Given the description of an element on the screen output the (x, y) to click on. 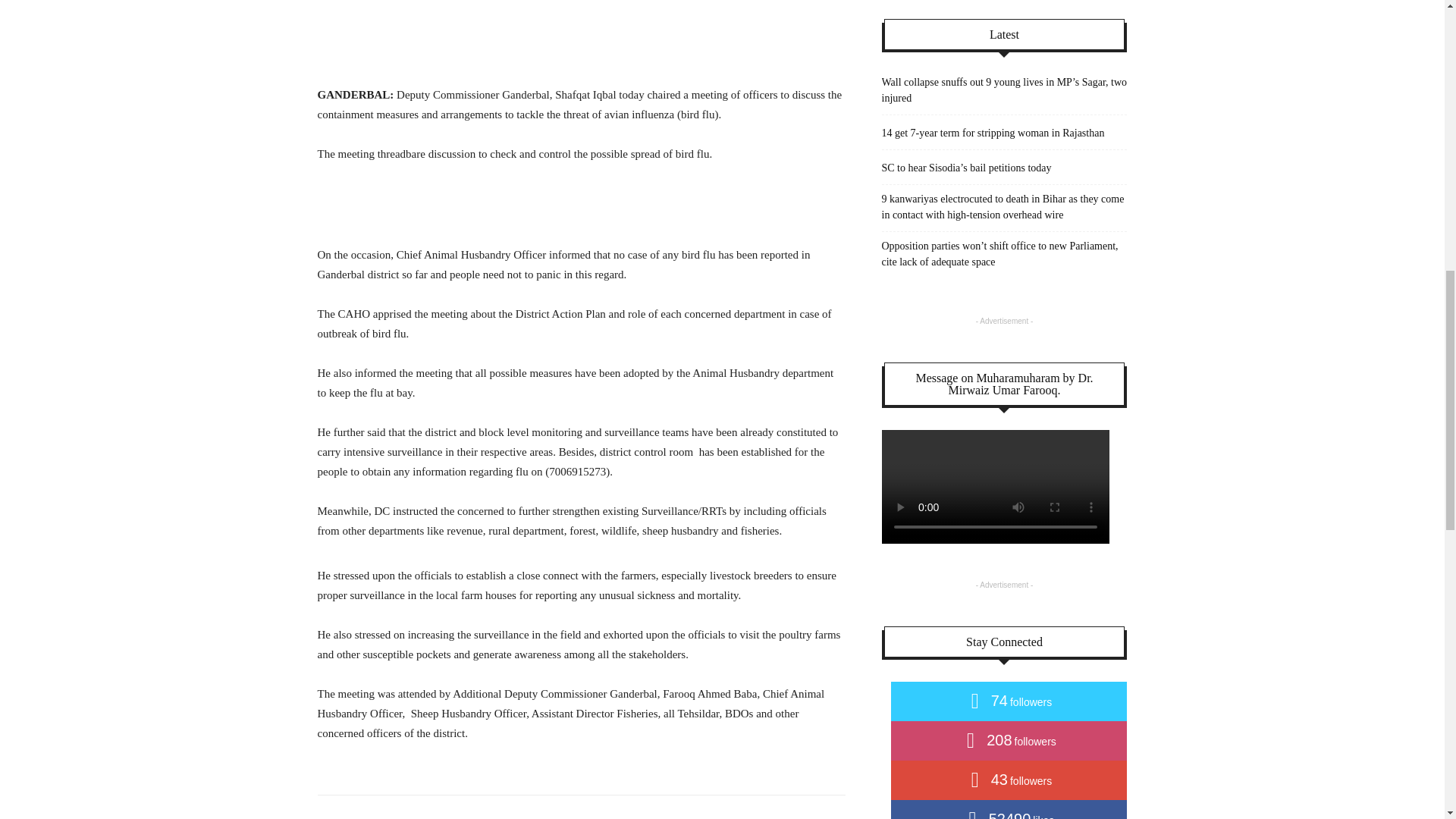
Advertisement (580, 45)
Advertisement (580, 206)
